Given the description of an element on the screen output the (x, y) to click on. 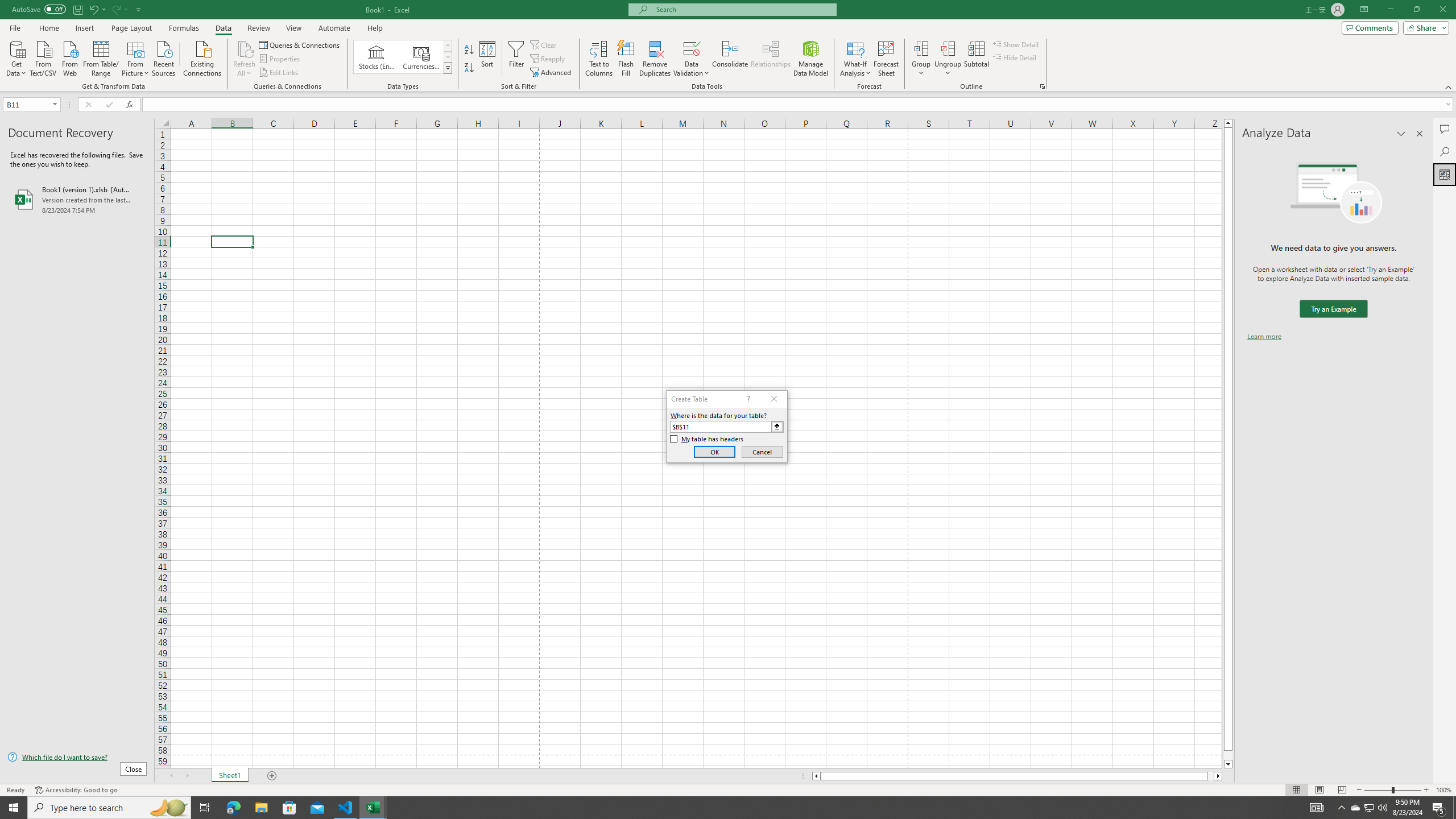
System (6, 6)
Subtotal (976, 58)
Data Validation... (691, 58)
Insert (83, 28)
Currencies (English) (420, 56)
Data (223, 28)
Line down (1228, 764)
Recent Sources (163, 57)
Properties (280, 58)
Sort A to Z (469, 49)
Add Sheet (272, 775)
File Tab (15, 27)
From Web (69, 57)
Learn more (1264, 336)
Search (1444, 151)
